Given the description of an element on the screen output the (x, y) to click on. 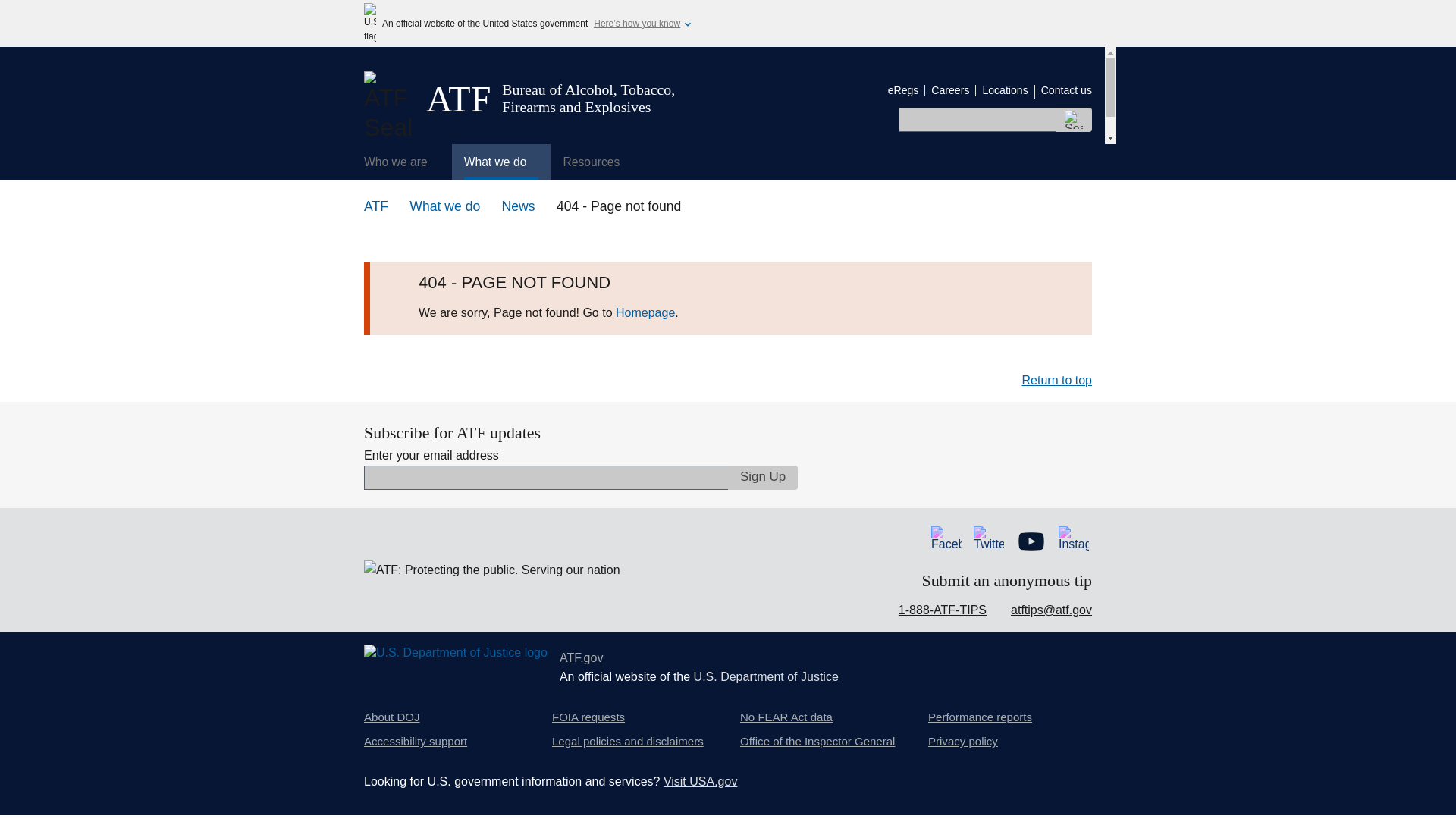
Search (1073, 119)
Return to top (1057, 379)
Careers (950, 90)
Homepage (645, 312)
Legal policies and disclaimers (627, 741)
Locations (1004, 90)
Who we are (401, 162)
Resources (596, 162)
U.S. Department of Justice (766, 676)
About DOJ (392, 717)
Privacy policy (962, 741)
No FEAR Act data (785, 717)
ATF (376, 206)
What we do (444, 206)
Visit USA.gov (700, 781)
